Given the description of an element on the screen output the (x, y) to click on. 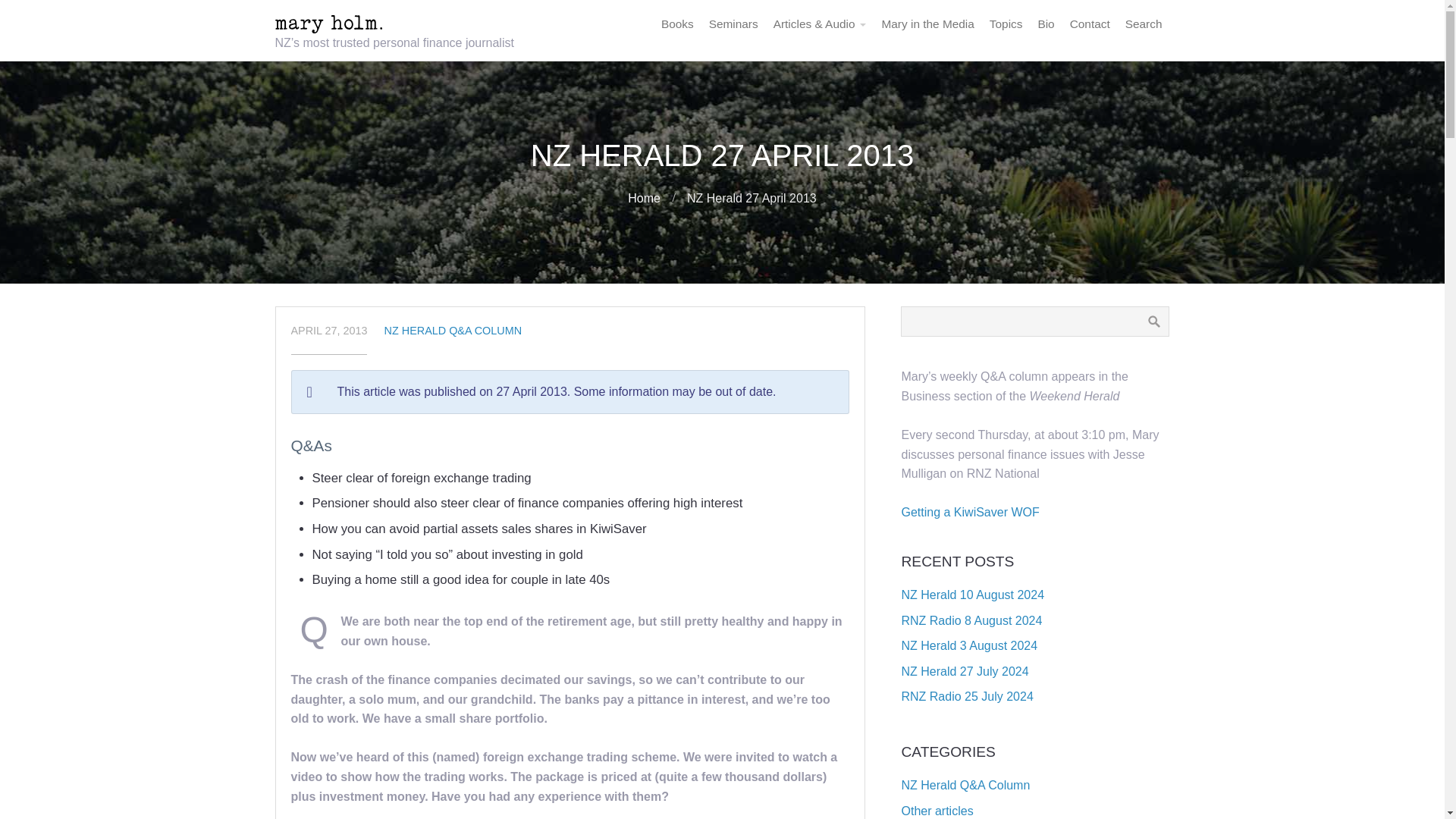
Search (1144, 24)
RNZ Radio 8 August 2024 (971, 620)
Mary in the Media (927, 24)
Home (644, 197)
Search (1144, 24)
NZ Herald 3 August 2024 (968, 645)
Search (1153, 321)
Books (677, 24)
Contact (1090, 24)
Getting a KiwiSaver WOF (970, 512)
